Given the description of an element on the screen output the (x, y) to click on. 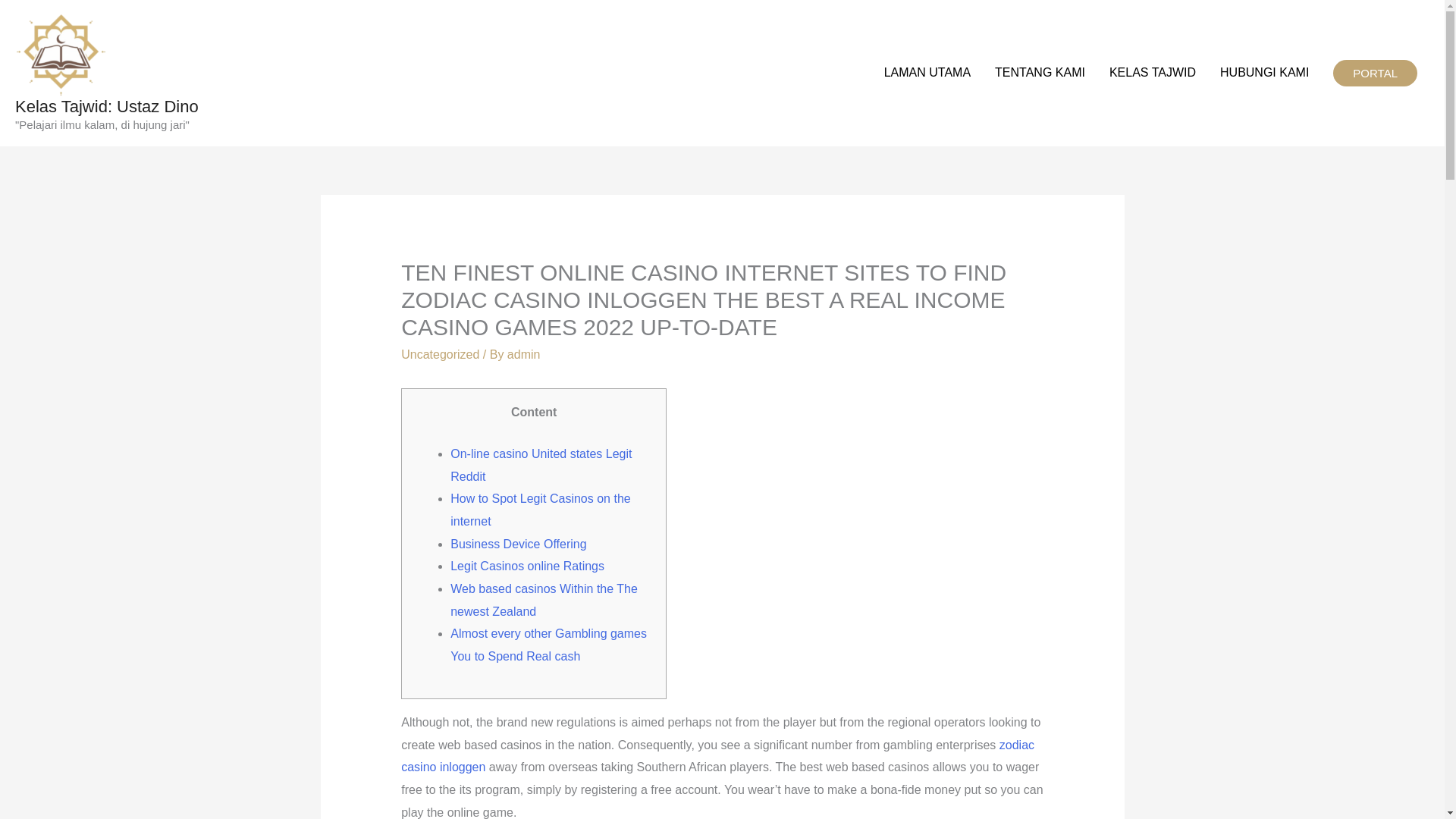
Almost every other Gambling games You to Spend Real cash (547, 644)
HUBUNGI KAMI (1264, 72)
How to Spot Legit Casinos on the internet (539, 509)
Kelas Tajwid: Ustaz Dino (106, 106)
admin (523, 354)
KELAS TAJWID (1152, 72)
Business Device Offering (517, 543)
LAMAN UTAMA (927, 72)
On-line casino United states Legit Reddit (540, 465)
View all posts by admin (523, 354)
PORTAL (1374, 72)
Uncategorized (440, 354)
Legit Casinos online Ratings (526, 565)
Web based casinos Within the The newest Zealand (543, 600)
zodiac casino inloggen (717, 755)
